Given the description of an element on the screen output the (x, y) to click on. 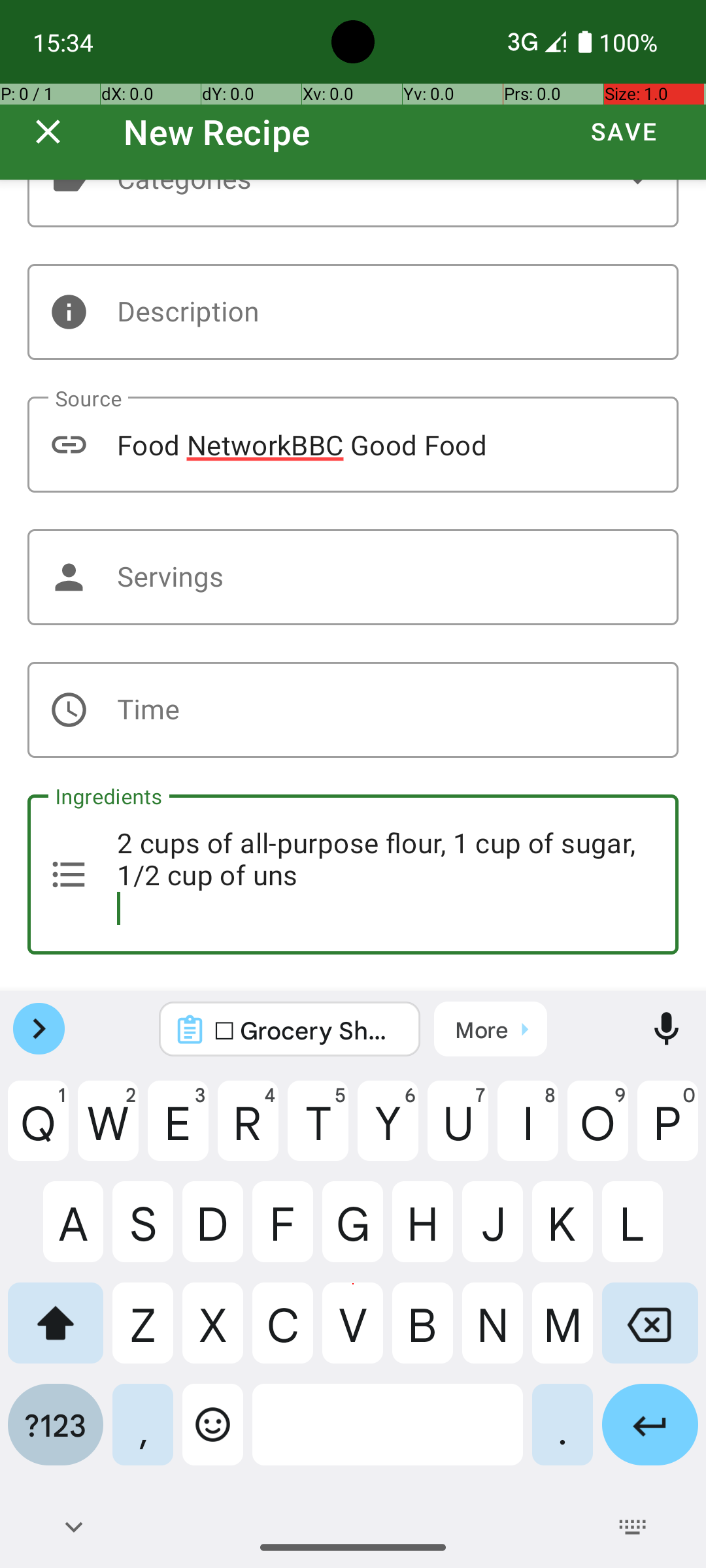
Description Element type: android.widget.EditText (352, 311)
Food NetworkBBC Good Food Element type: android.widget.EditText (352, 444)
2 cups of all-purpose flour, 1 cup of sugar, 1/2 cup of uns
 Element type: android.widget.EditText (352, 874)
☐ Grocery Shopping ☐ Call Grandma ☐ Attend Team Meeting ☐ Take Dog to the Vet ☐ Finish Project Proposal ☐ Water Plants ☐ Reply to Emails ☐ Change Air Filter ☐ Submit Expense Report ☐ Submit Budget Report ☑ Read 'The Martian' ☑ Grocery Shopping ☑ Submit Expense Report ☑ Brainstorm Blog Post Ideas ☑ Change Air Filter ☑ Research Vacation Destinations ☑ Finish Project Proposal ☑ Change Air Filter ☑ Take Dog to the Vet ☑ Submit Expense Report ☑ Learn to Play Guitar Element type: android.widget.TextView (306, 1029)
